Given the description of an element on the screen output the (x, y) to click on. 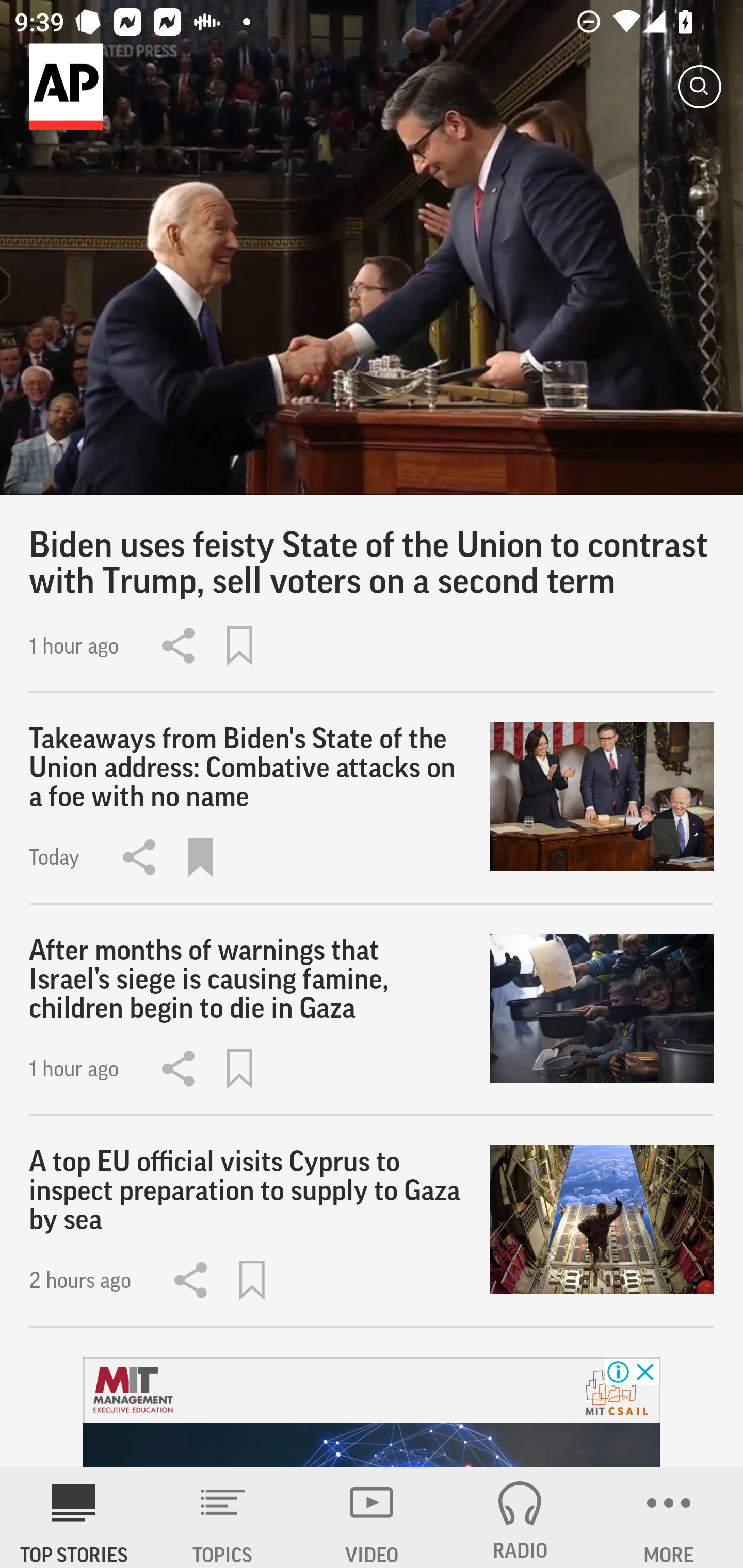
AP News TOP STORIES (74, 1517)
TOPICS (222, 1517)
VIDEO (371, 1517)
RADIO (519, 1517)
MORE (668, 1517)
